Given the description of an element on the screen output the (x, y) to click on. 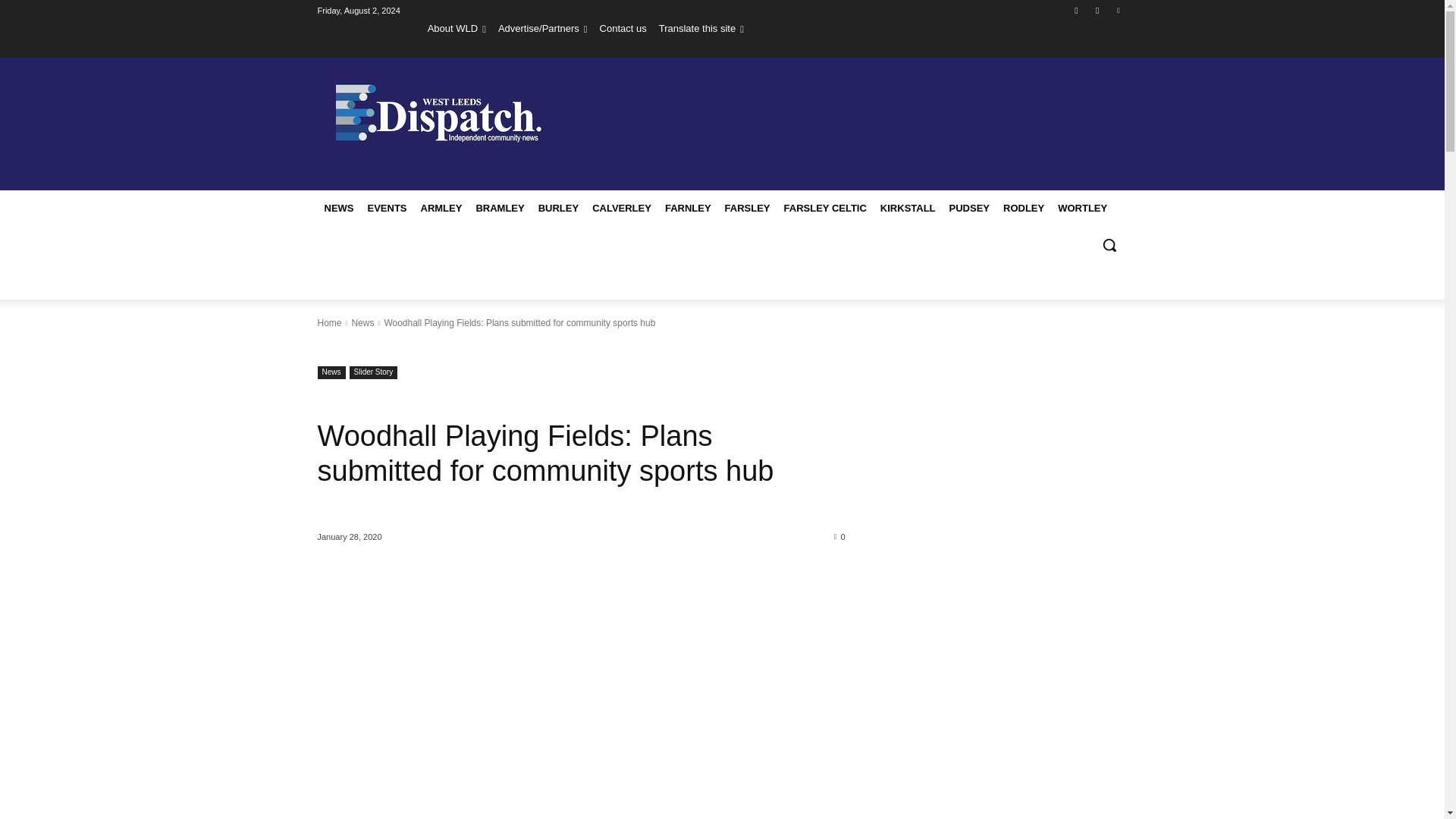
Contact us (622, 28)
About WLD (457, 28)
Translate this site (701, 28)
